Given the description of an element on the screen output the (x, y) to click on. 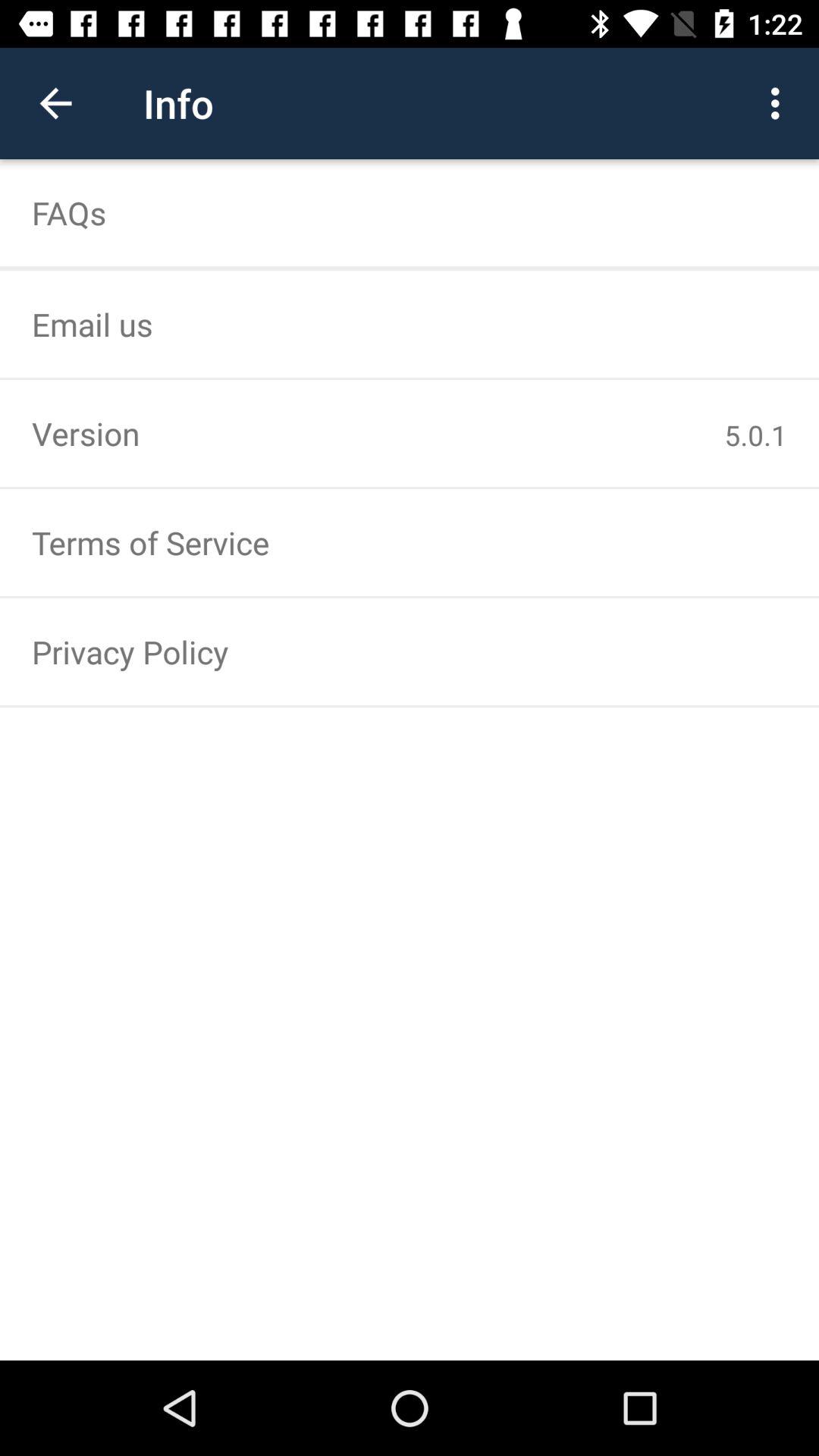
select item next to info icon (55, 103)
